Given the description of an element on the screen output the (x, y) to click on. 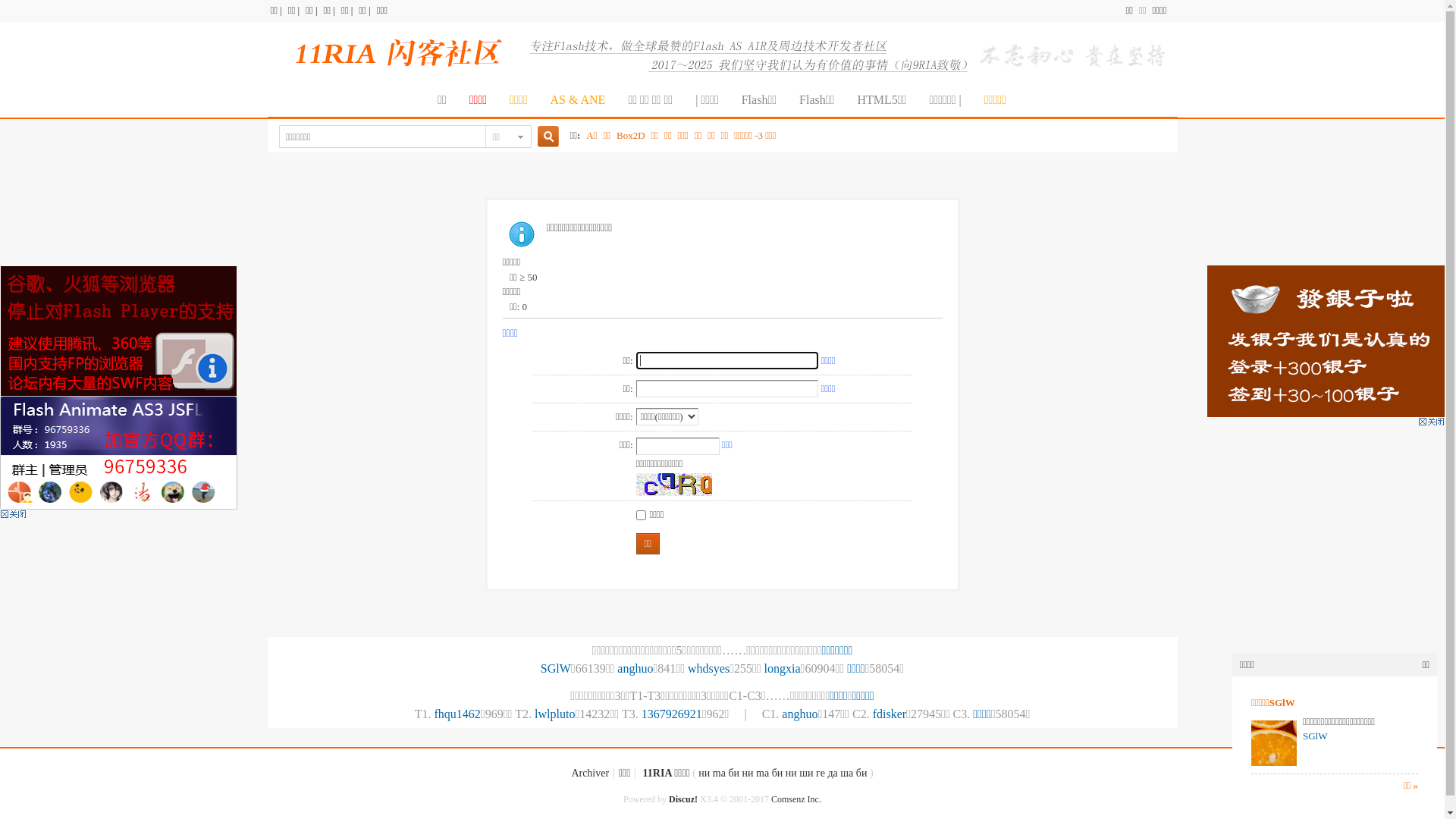
fdisker Element type: text (889, 713)
AS & ANE Element type: text (577, 99)
SGlW Element type: text (555, 668)
Archiver Element type: text (589, 772)
1367926921 Element type: text (671, 713)
anghuo Element type: text (634, 668)
whdsyes Element type: text (708, 668)
fhqu1462 Element type: text (456, 713)
SGlW Element type: text (1314, 735)
Discuz! Element type: text (682, 798)
longxia Element type: text (782, 668)
lwlpluto Element type: text (554, 713)
anghuo Element type: text (799, 713)
Comsenz Inc. Element type: text (796, 798)
Box2D Element type: text (630, 135)
